Given the description of an element on the screen output the (x, y) to click on. 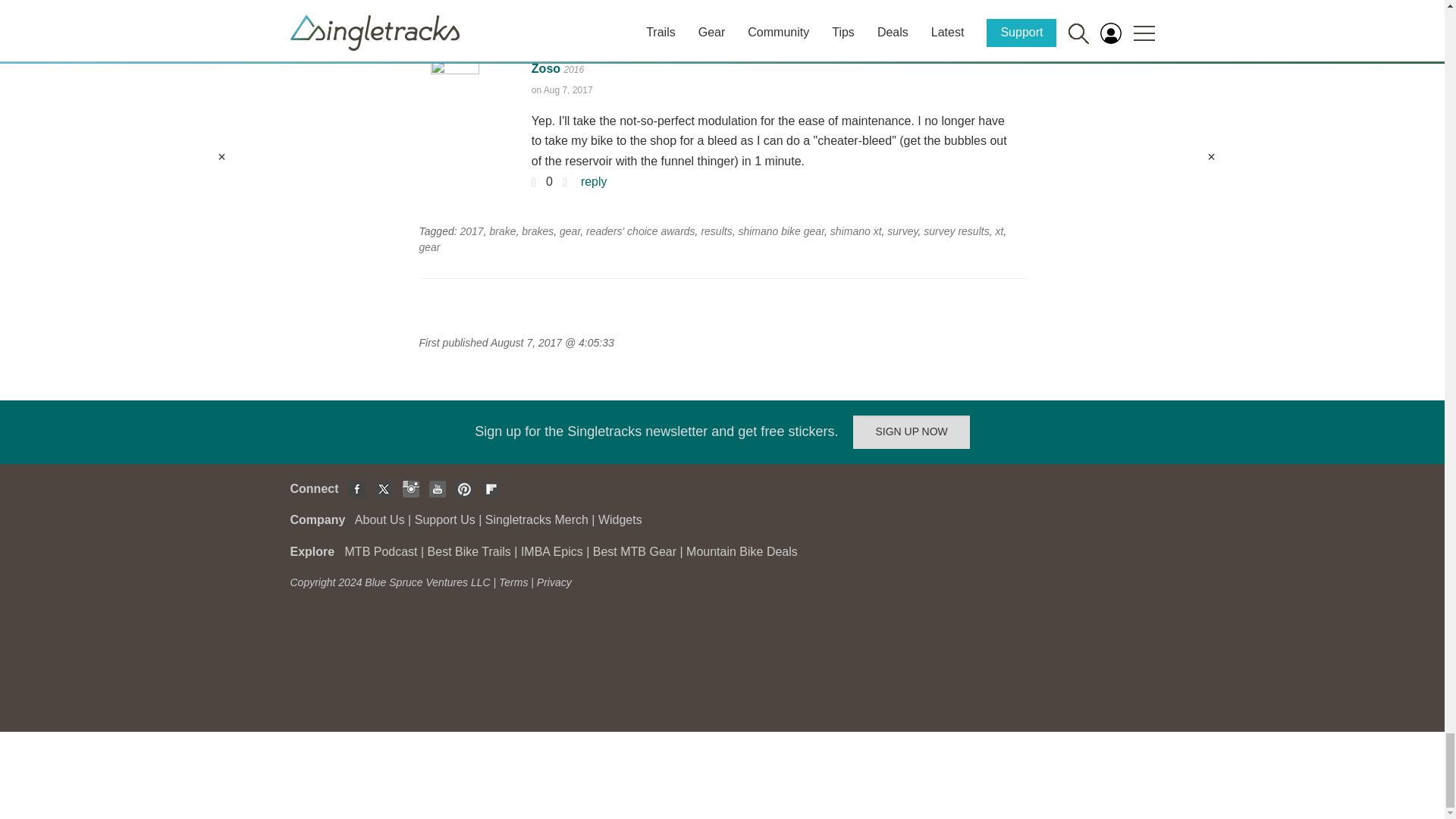
SIGN UP NOW (911, 431)
